Given the description of an element on the screen output the (x, y) to click on. 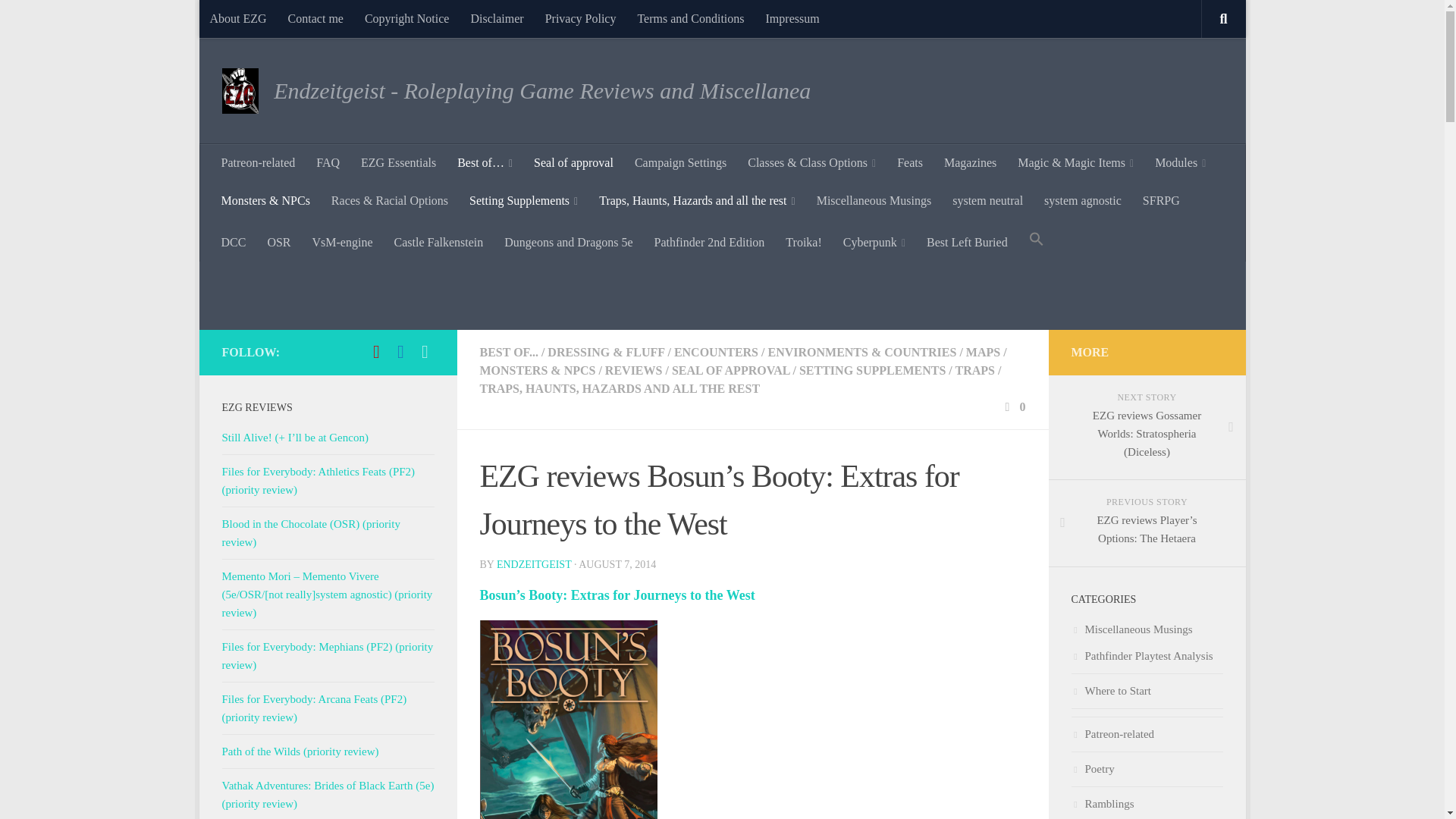
Follow us on Facebook (400, 352)
Follow us on Patreon (375, 352)
Skip to content (258, 20)
Posts by endzeitgeist (534, 564)
